Given the description of an element on the screen output the (x, y) to click on. 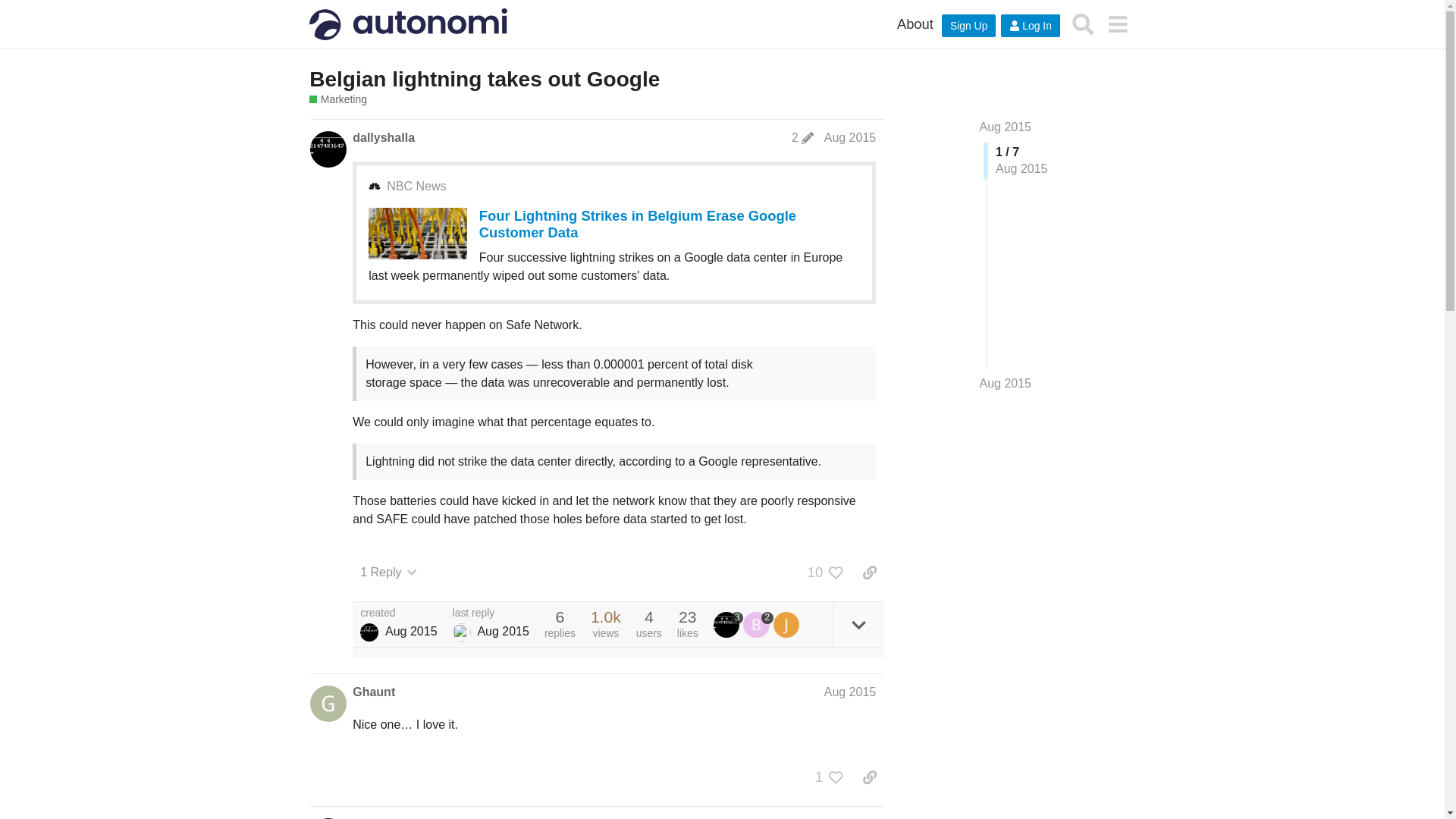
Aug 2015 (850, 137)
Aug 2015 (1005, 126)
dallyshalla (368, 632)
Jump to the first post (1005, 126)
copy a link to this post to clipboard (869, 572)
Four Lightning Strikes in Belgium Erase Google Customer Data (637, 224)
dallyshalla (383, 817)
Ghaunt (373, 692)
post last edited on Aug 21, 2015 7:14 am (802, 137)
Jump to the last post (1005, 382)
Aug 2015 (850, 691)
Please sign up or log in to like this post (836, 572)
last reply (490, 613)
Important links (915, 23)
